Given the description of an element on the screen output the (x, y) to click on. 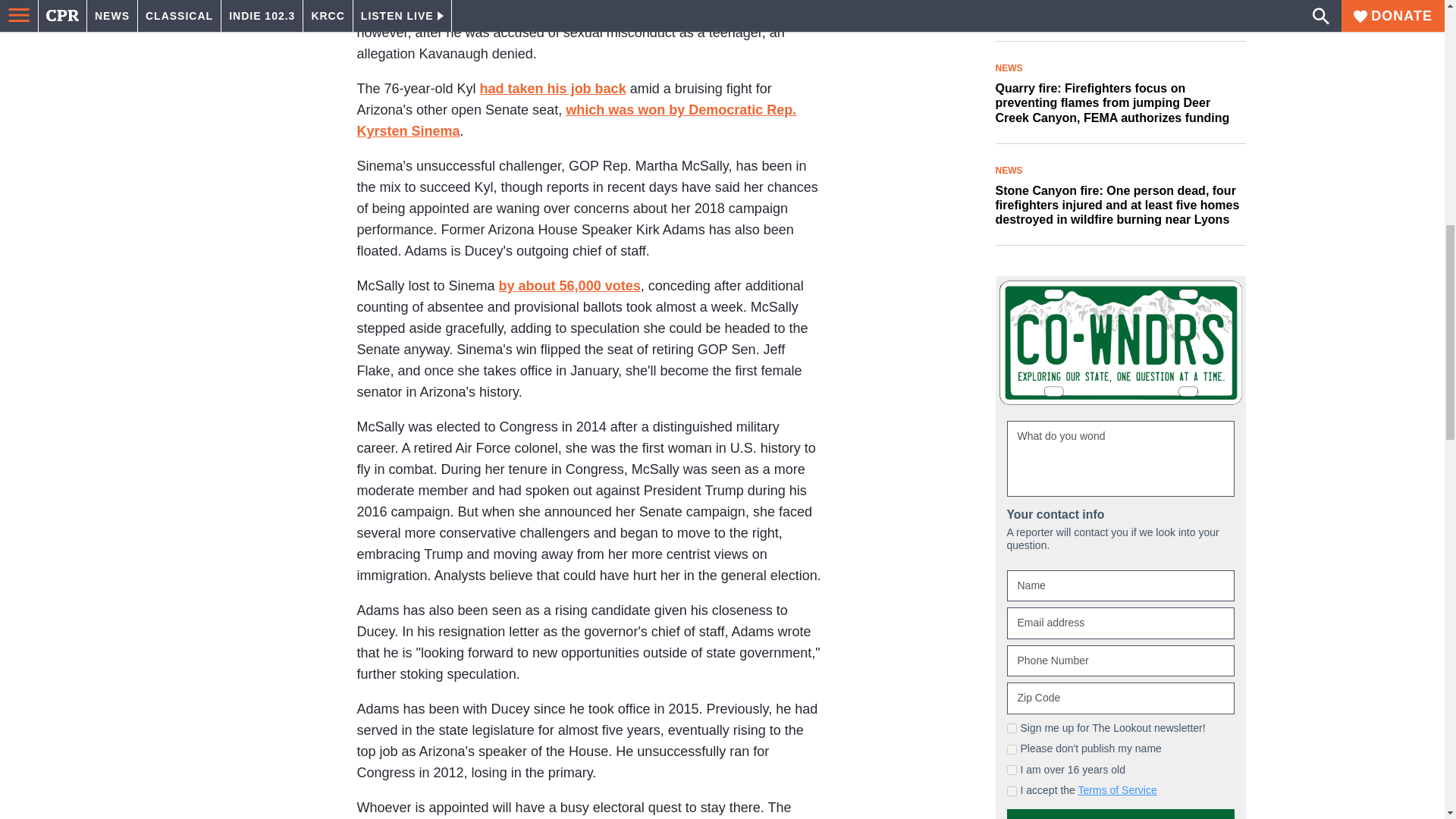
on (1011, 728)
on (1011, 791)
on (1011, 749)
on (1011, 769)
